Given the description of an element on the screen output the (x, y) to click on. 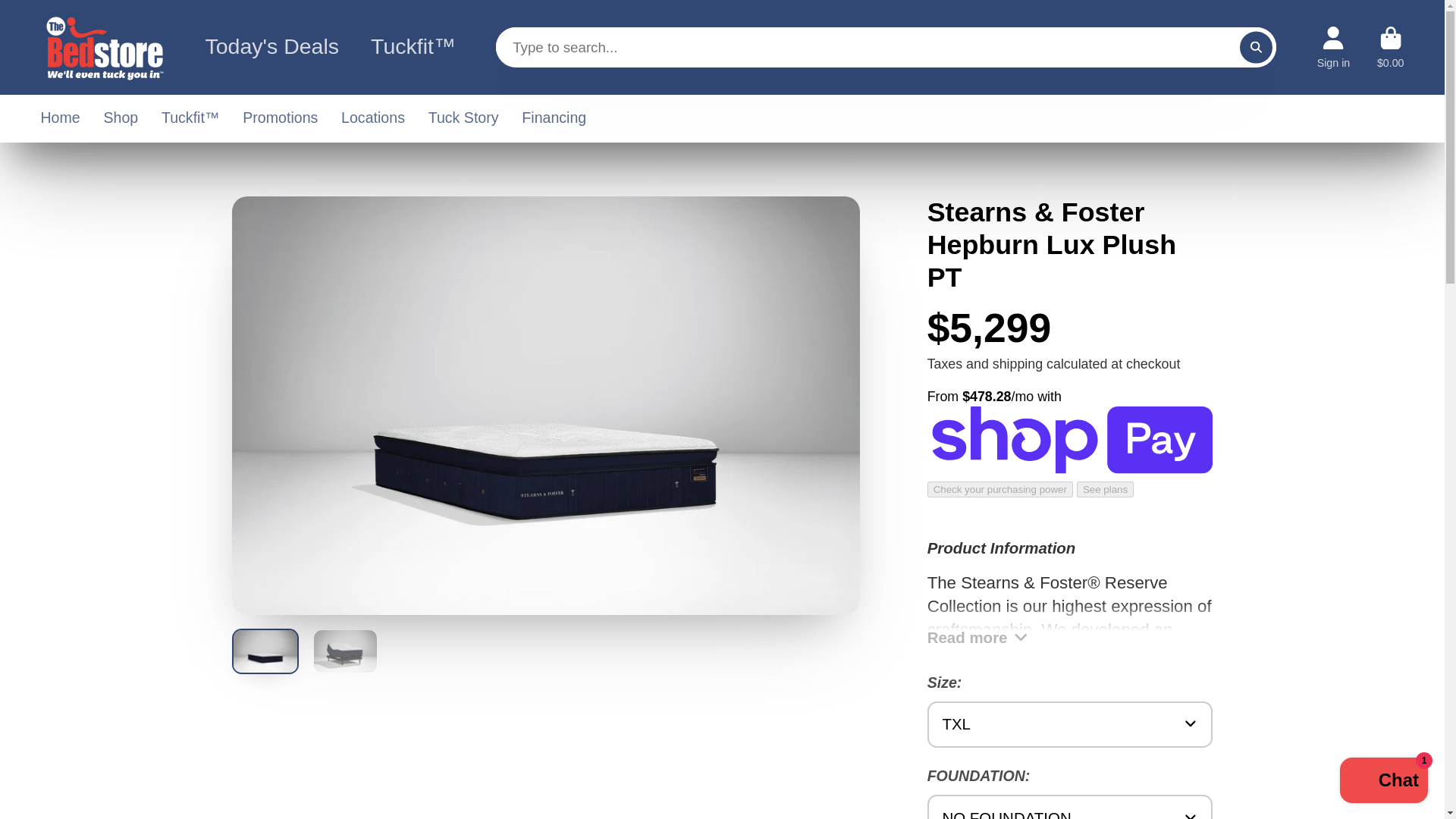
Logo (104, 47)
Today's Deals (267, 47)
Promotions (280, 118)
Read more (1069, 624)
Financing (553, 118)
Locations (372, 118)
Tuck Story (463, 118)
Shopify online store chat (1383, 781)
